Given the description of an element on the screen output the (x, y) to click on. 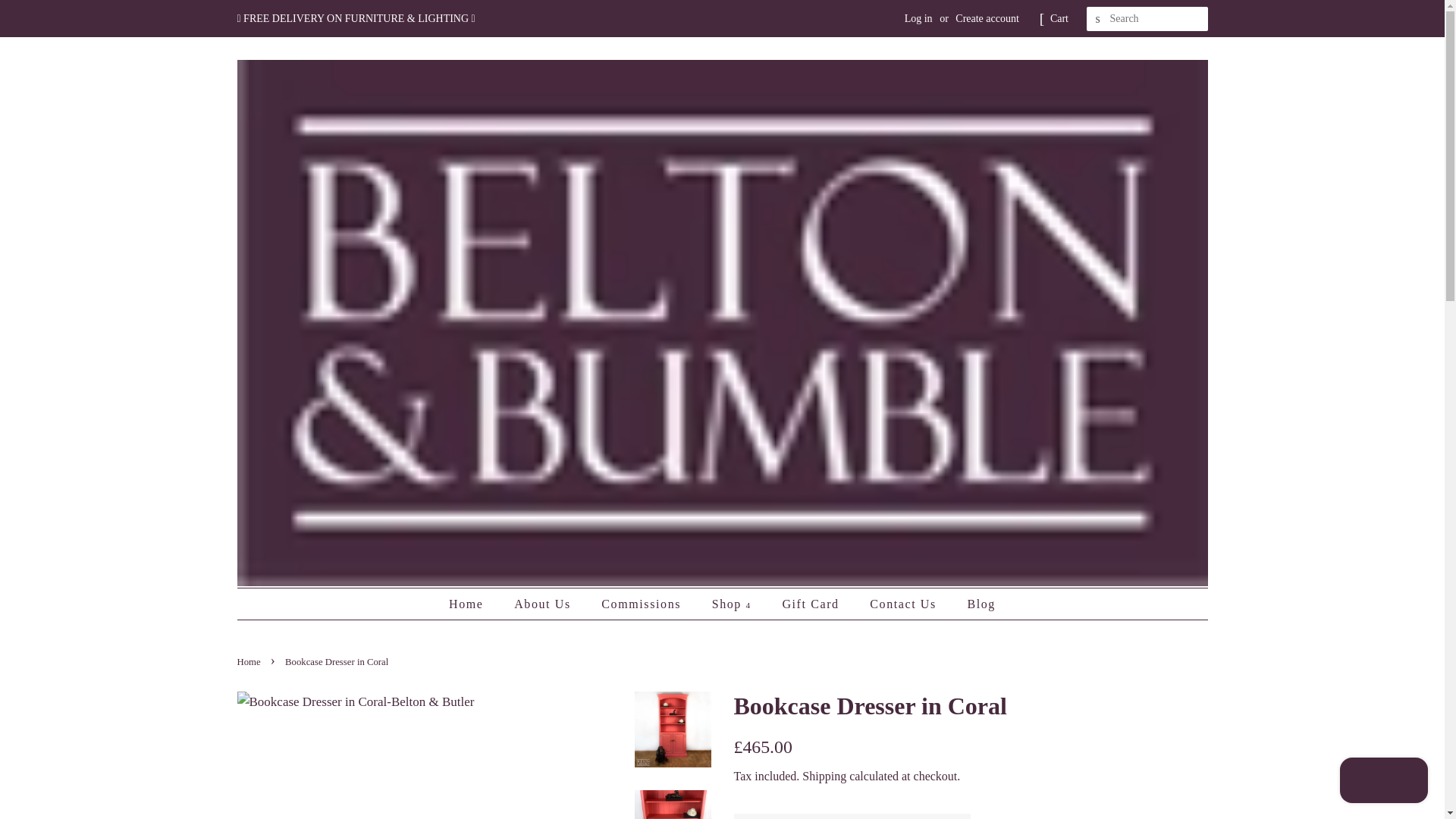
Log in (918, 18)
Shopify online store chat (1383, 781)
Cart (1058, 18)
Create account (987, 18)
Search (1097, 18)
Back to the frontpage (249, 661)
